Given the description of an element on the screen output the (x, y) to click on. 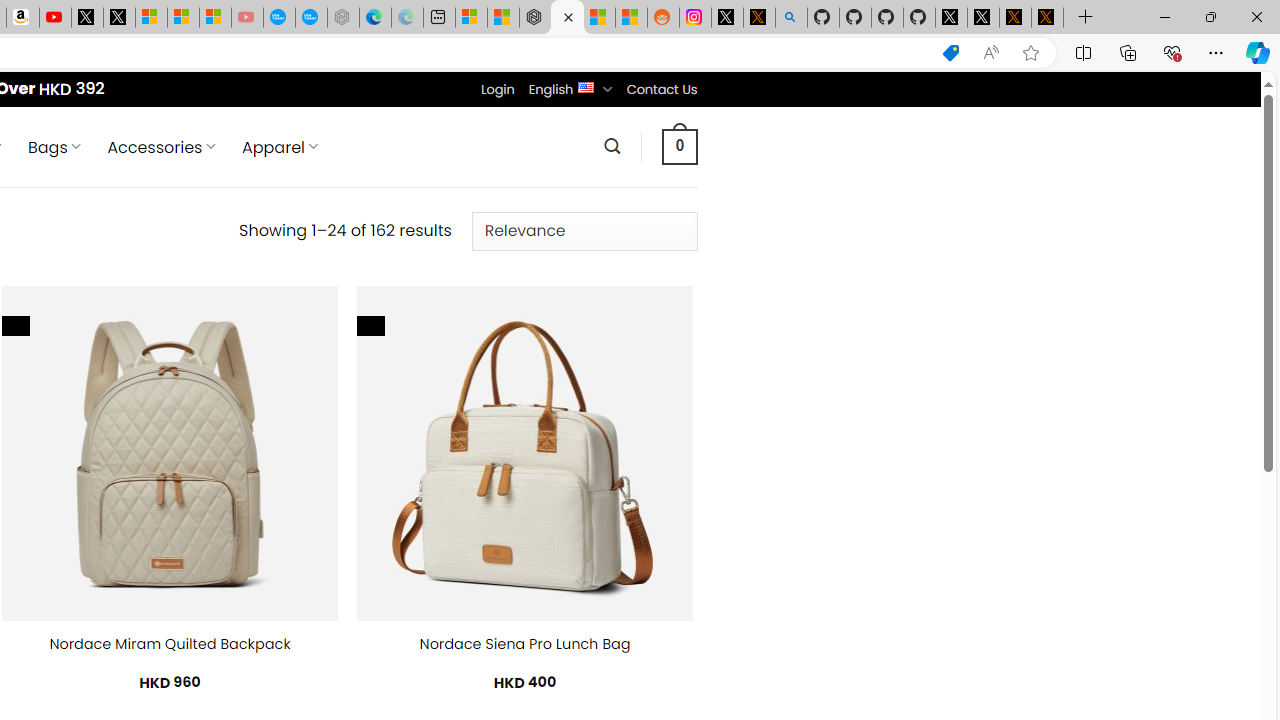
Shop order (584, 231)
Login (497, 89)
Profile / X (950, 17)
The most popular Google 'how to' searches (310, 17)
This site has coupons! Shopping in Microsoft Edge (950, 53)
Restore (1210, 16)
Add this page to favorites (Ctrl+D) (1030, 53)
Nordace - Best Sellers (535, 17)
X Privacy Policy (1047, 17)
Nordace Siena Pro Lunch Bag (524, 643)
Collections (1128, 52)
